Given the description of an element on the screen output the (x, y) to click on. 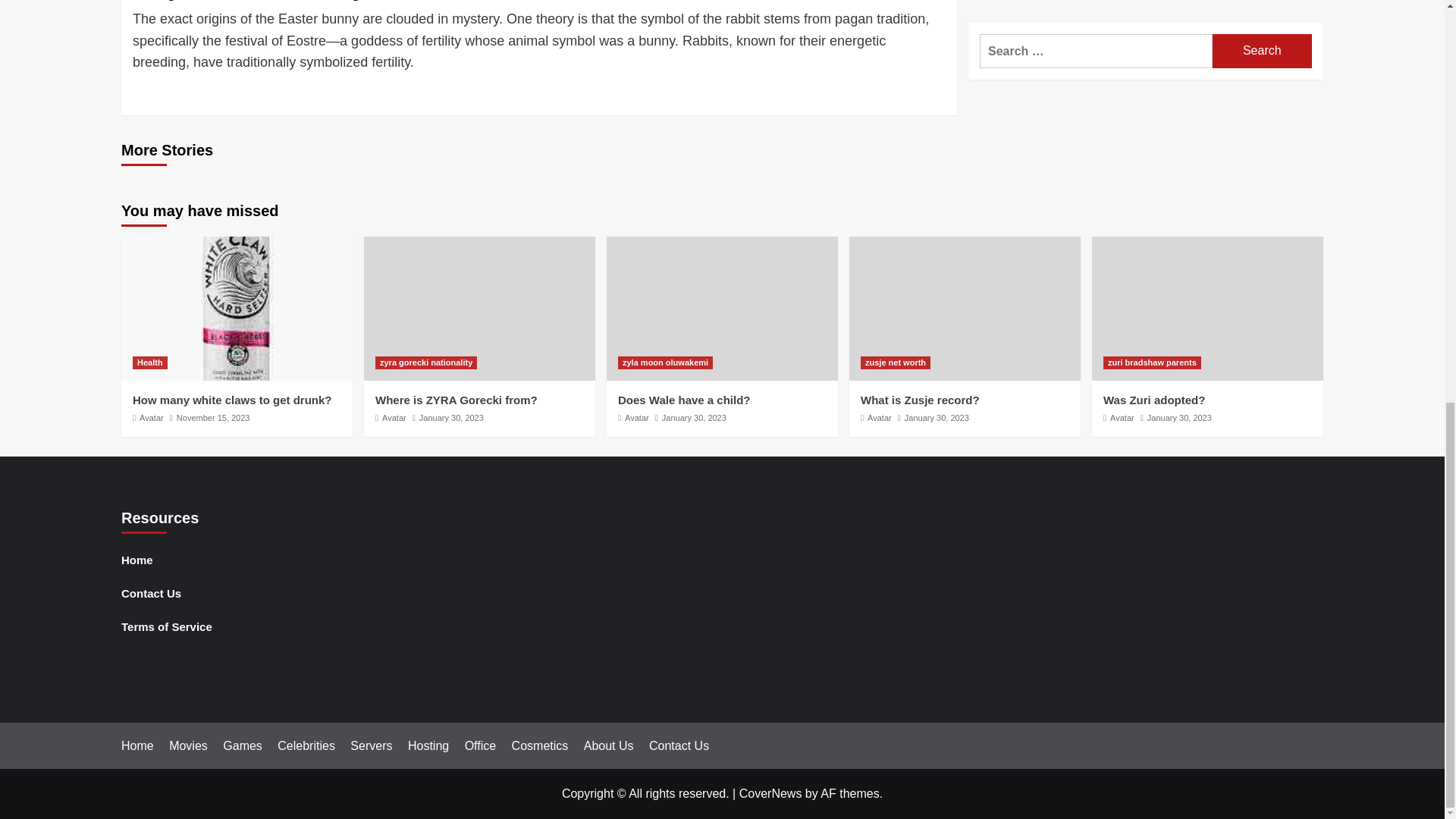
Where is ZYRA Gorecki from? (456, 399)
Does Wale have a child? (684, 399)
November 15, 2023 (213, 417)
Avatar (393, 417)
January 30, 2023 (451, 417)
zyra gorecki nationality (426, 362)
Avatar (636, 417)
How many white claws to get drunk? (231, 399)
zyla moon oluwakemi (665, 362)
Avatar (151, 417)
January 30, 2023 (694, 417)
Health (149, 362)
